Given the description of an element on the screen output the (x, y) to click on. 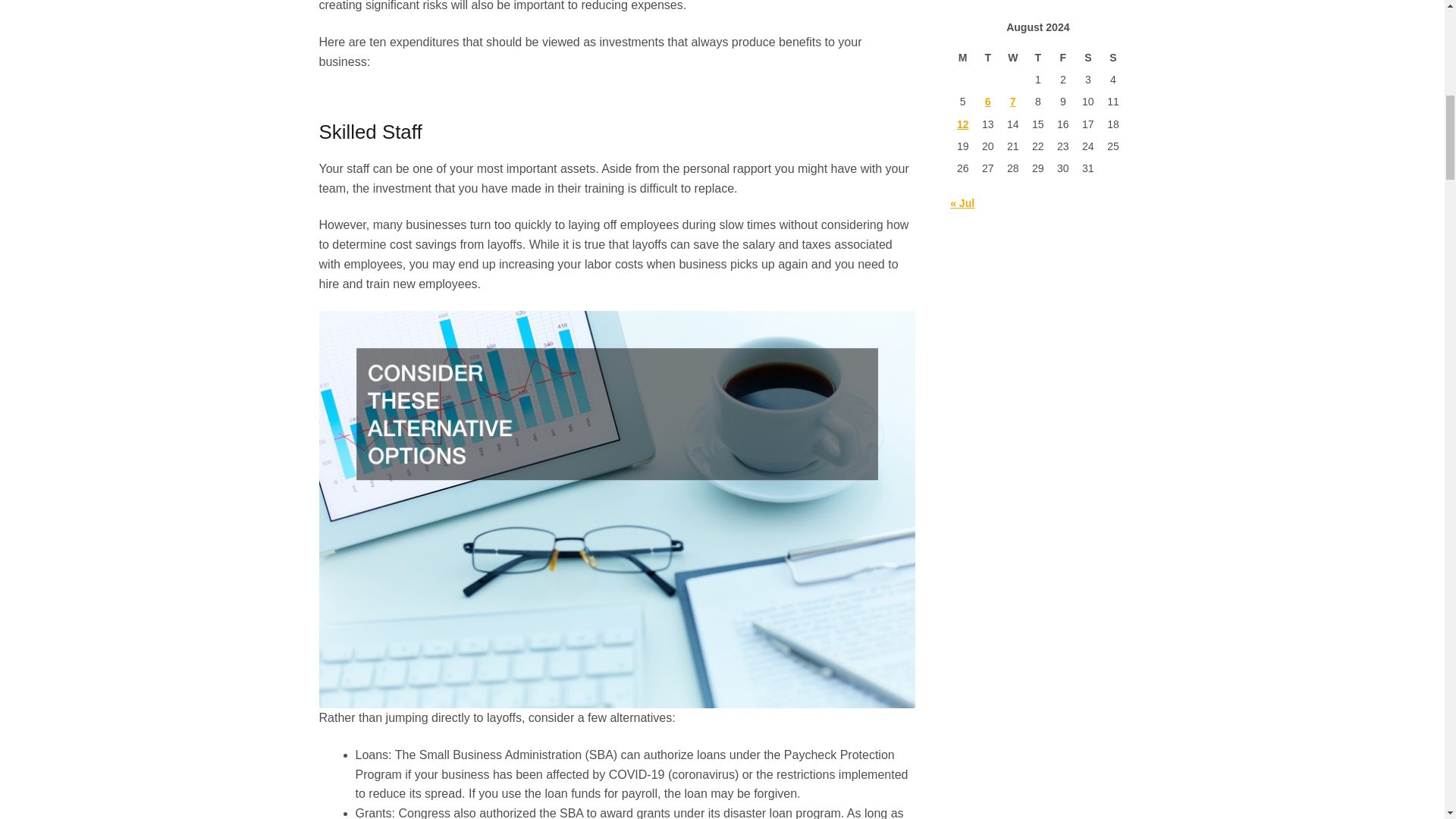
Friday (1062, 57)
12 (962, 123)
Monday (962, 57)
Thursday (1037, 57)
Sunday (1112, 57)
Wednesday (1012, 57)
Saturday (1087, 57)
Tuesday (987, 57)
